Given the description of an element on the screen output the (x, y) to click on. 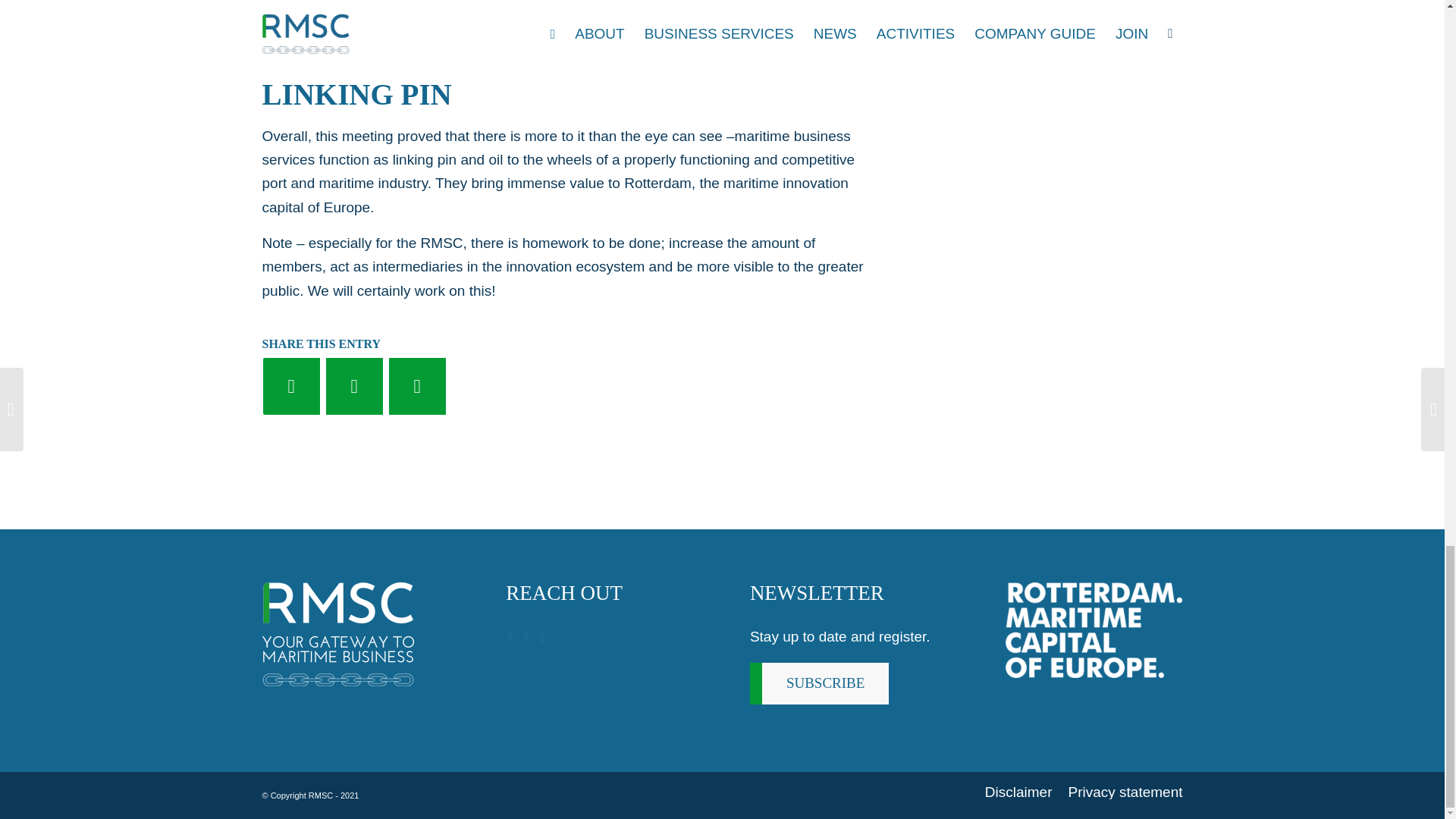
Footer-Logo-RMSC-A-DEF (337, 634)
